Given the description of an element on the screen output the (x, y) to click on. 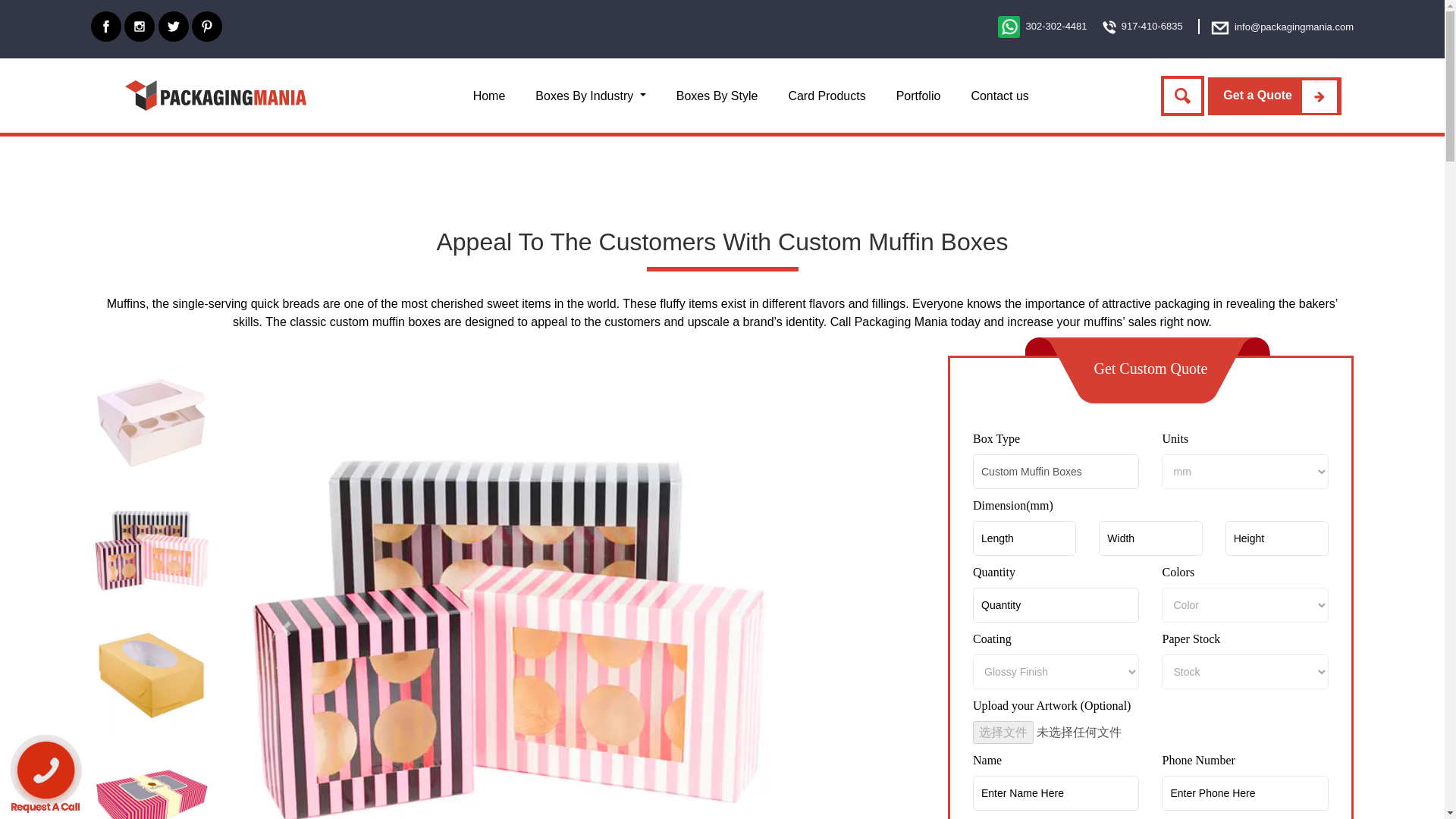
Contact us (999, 95)
Get a Quote (1274, 95)
Portfolio (918, 95)
Boxes By Industry (590, 95)
  302-302-4481 (1041, 25)
  917-410-6835 (1142, 26)
Custom Muffin Boxes (1055, 471)
Home (489, 95)
Boxes By Style (717, 95)
Card Products (826, 95)
